Given the description of an element on the screen output the (x, y) to click on. 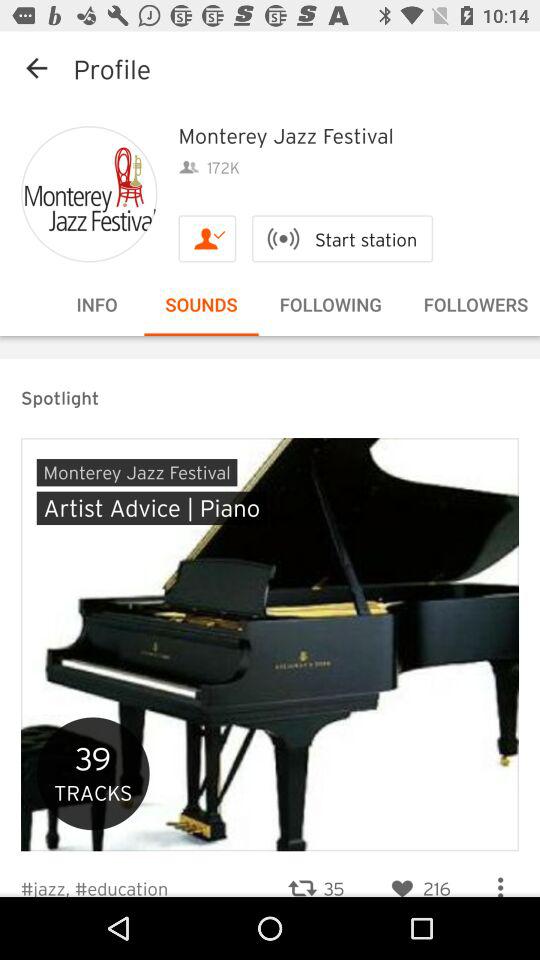
profile picture (89, 194)
